Given the description of an element on the screen output the (x, y) to click on. 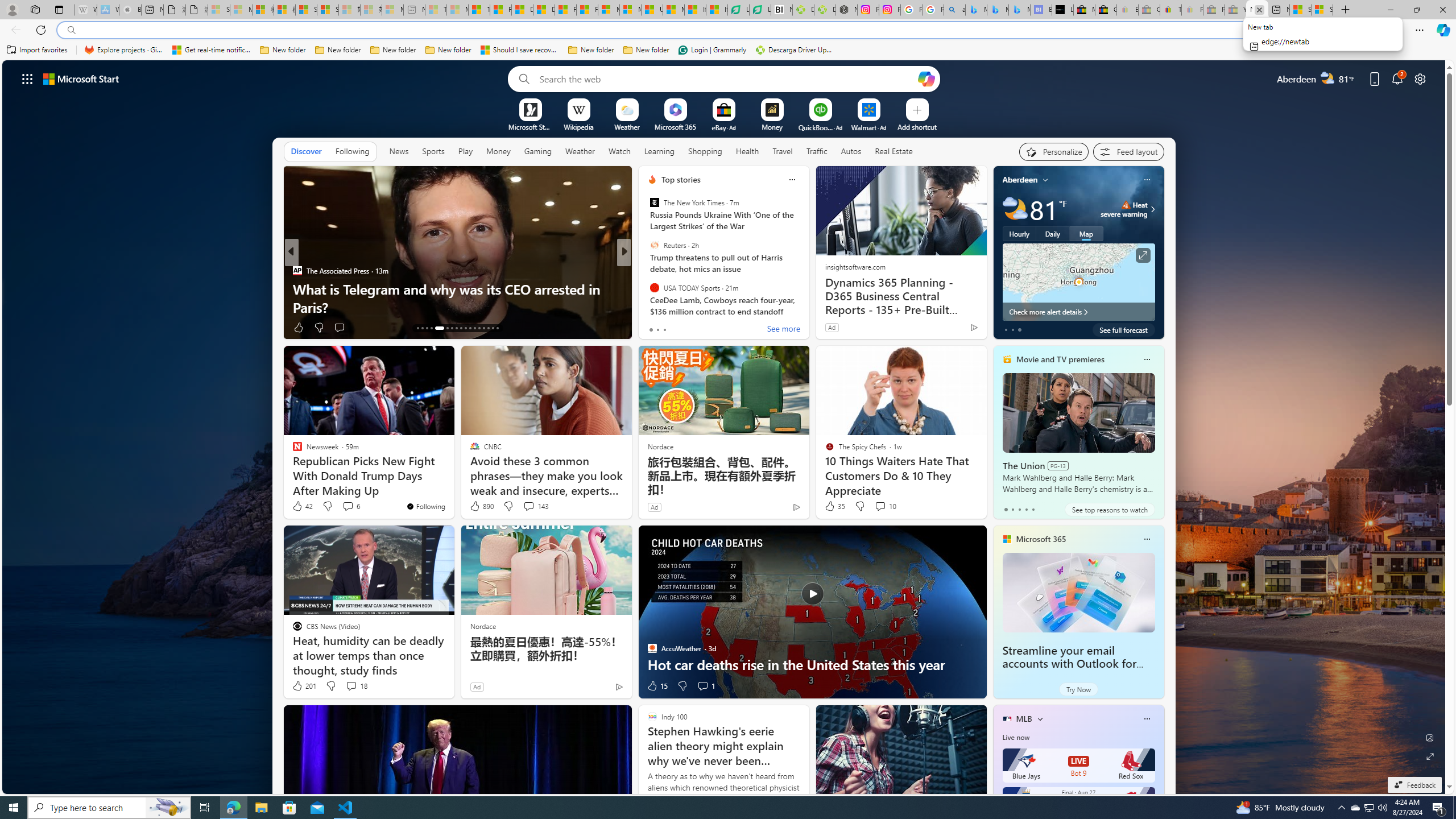
US Heat Deaths Soared To Record High Last Year (652, 9)
Page settings (1420, 78)
insightsoftware.com (854, 266)
The New York Times (654, 202)
Shopping (705, 151)
Streamline your email accounts with Outlook for Windows (1069, 664)
Buy iPad - Apple - Sleeping (130, 9)
13 Tips to Get a Raise (807, 307)
PsychLove (647, 288)
See more (783, 329)
Facing the Perfect Storm: The Lethal Impact of Extreme Heat (807, 298)
View comments 6 Comment (350, 505)
